Given the description of an element on the screen output the (x, y) to click on. 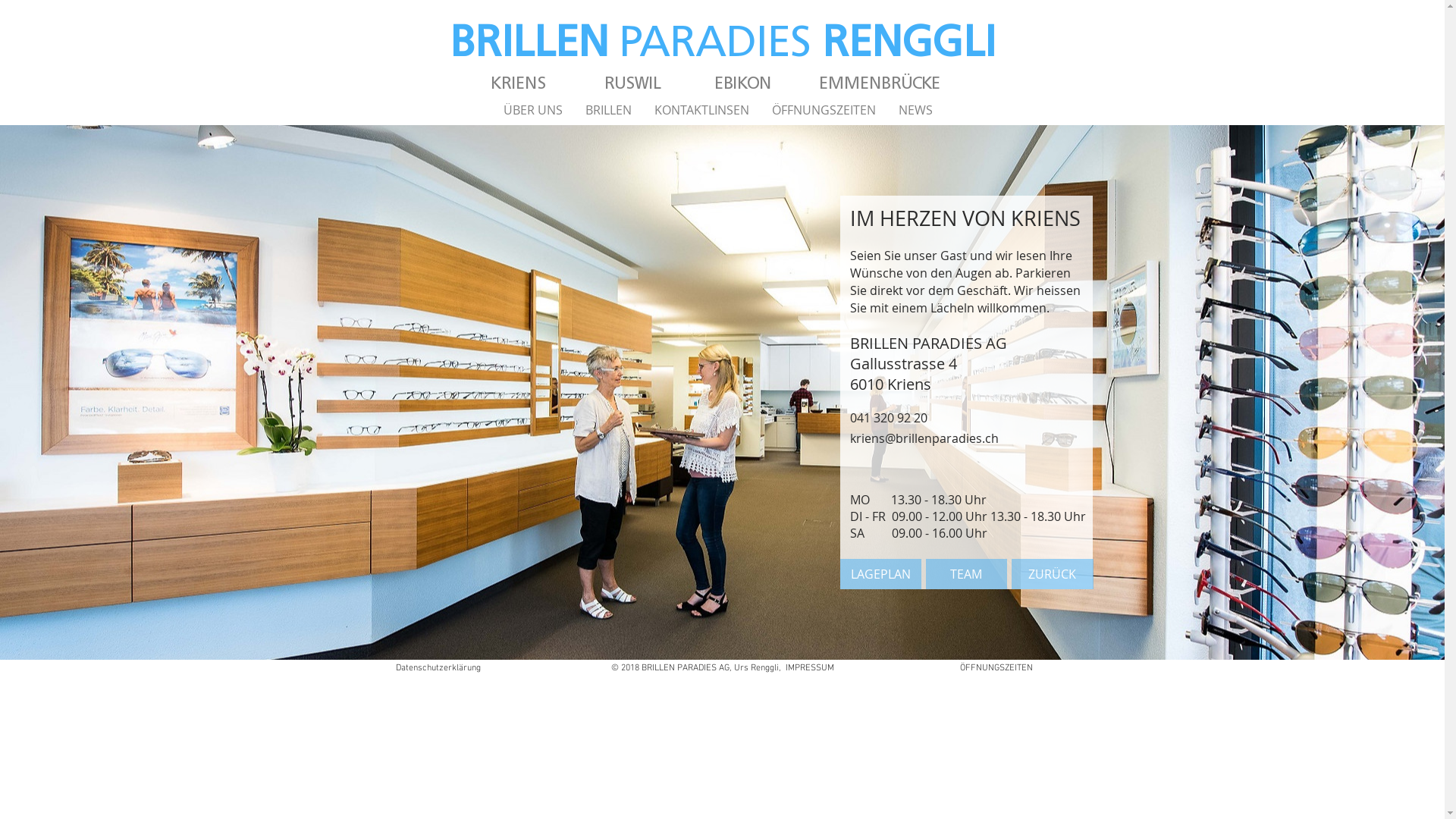
TEAM Element type: text (965, 573)
041 320 92 20  Element type: text (889, 416)
LAGEPLAN Element type: text (880, 573)
KONTAKTLINSEN Element type: text (701, 109)
BRILLEN PARADIES RENGGLI Element type: text (722, 39)
KRIENS Element type: text (518, 82)
kriens@brillenparadies.ch Element type: text (923, 436)
NEWS Element type: text (915, 109)
RUSWIL Element type: text (631, 82)
BRILLEN Element type: text (607, 109)
EBIKON Element type: text (742, 82)
